Given the description of an element on the screen output the (x, y) to click on. 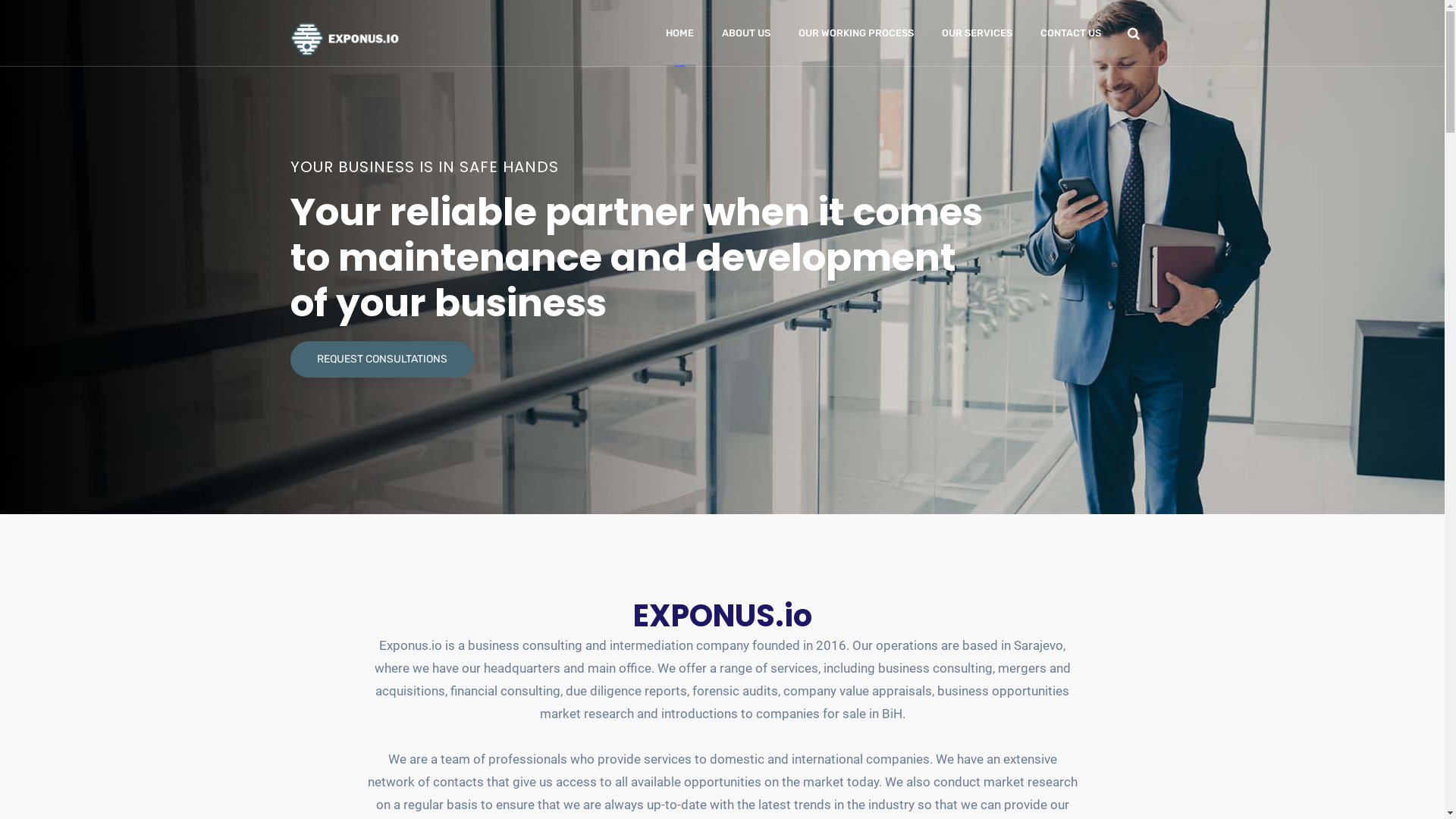
CONTACT US Element type: text (1070, 32)
OUR WORKING PROCESS Element type: text (855, 32)
ABOUT US Element type: text (745, 32)
OUR SERVICES Element type: text (976, 32)
REQUEST CONSULTATIONS Element type: text (381, 359)
HOME Element type: text (679, 32)
